Given the description of an element on the screen output the (x, y) to click on. 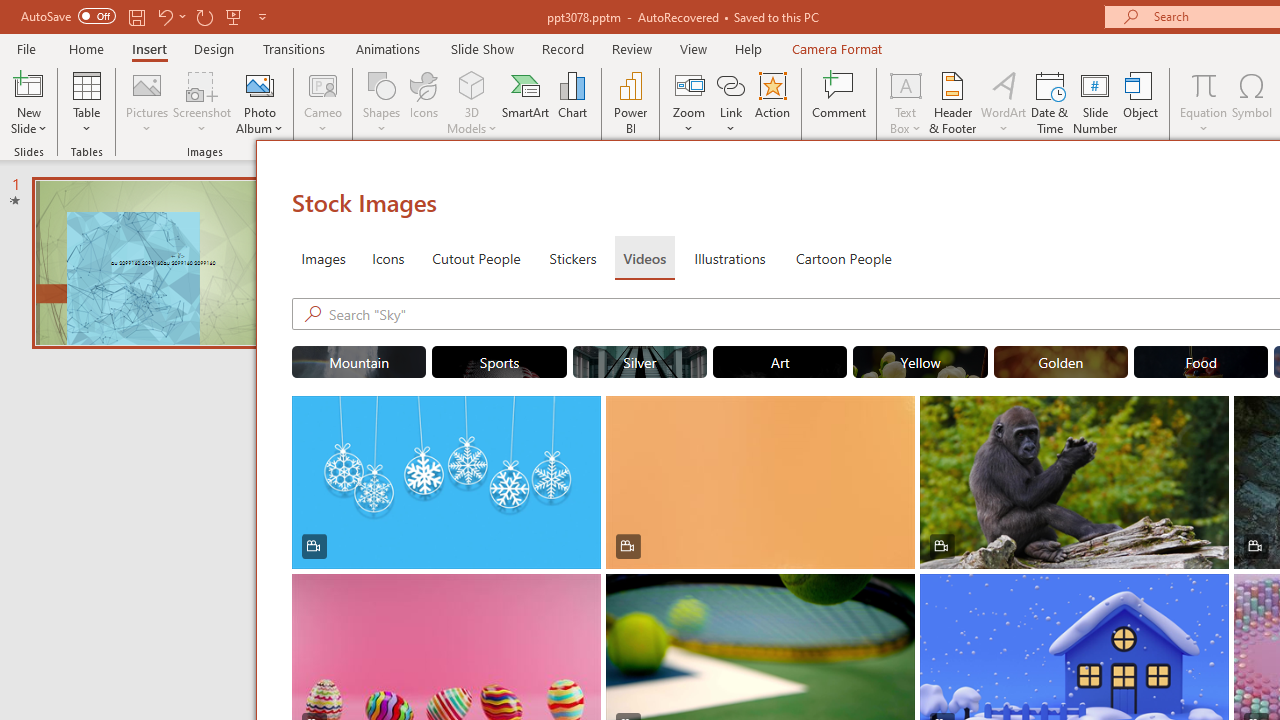
Date & Time... (1050, 102)
Table (86, 102)
Power BI (630, 102)
Symbol... (1252, 102)
Screenshot (202, 102)
3D Models (472, 84)
Photo Album... (259, 102)
Videos (644, 258)
